Given the description of an element on the screen output the (x, y) to click on. 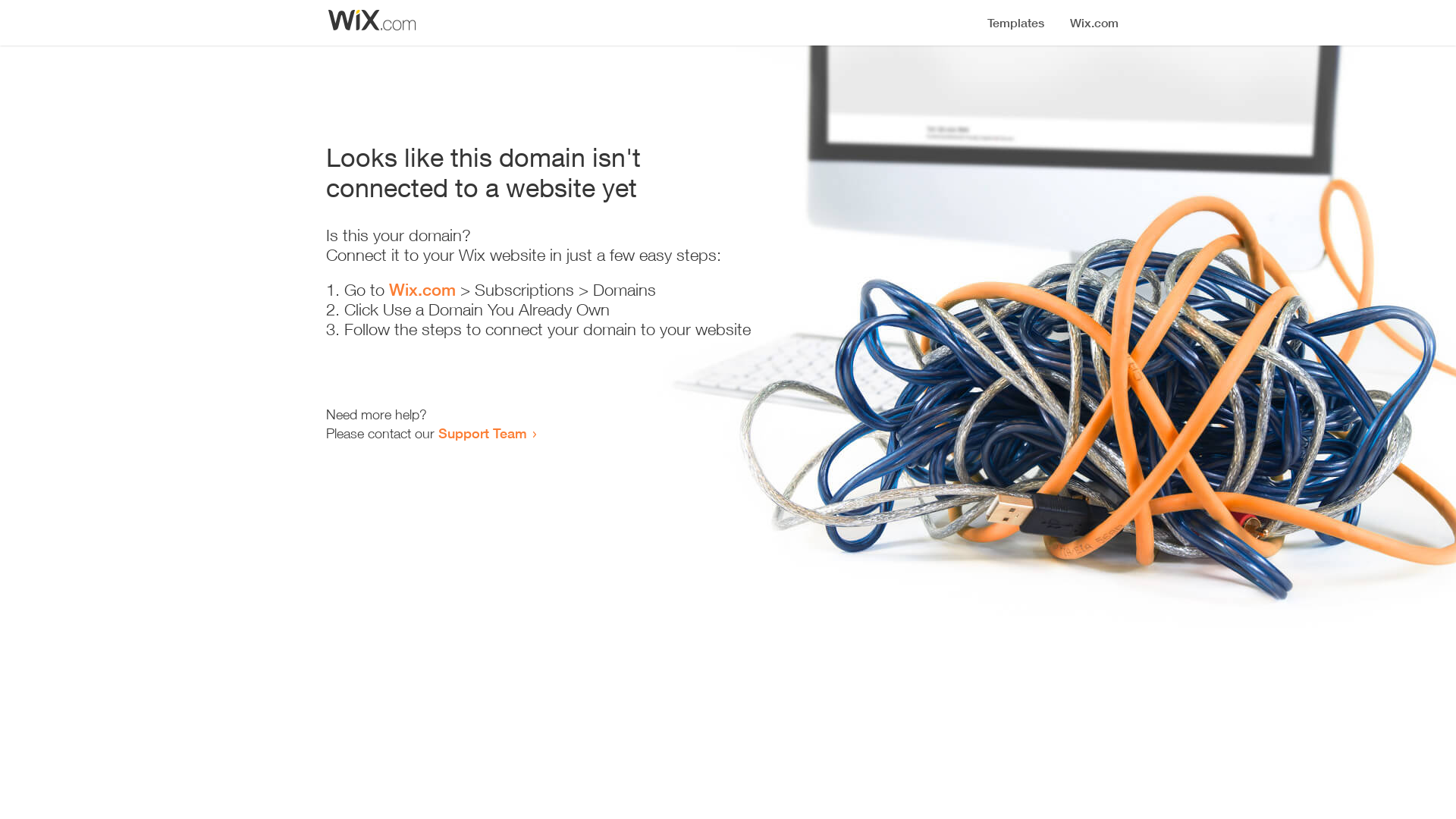
Support Team Element type: text (482, 432)
Wix.com Element type: text (422, 289)
